Given the description of an element on the screen output the (x, y) to click on. 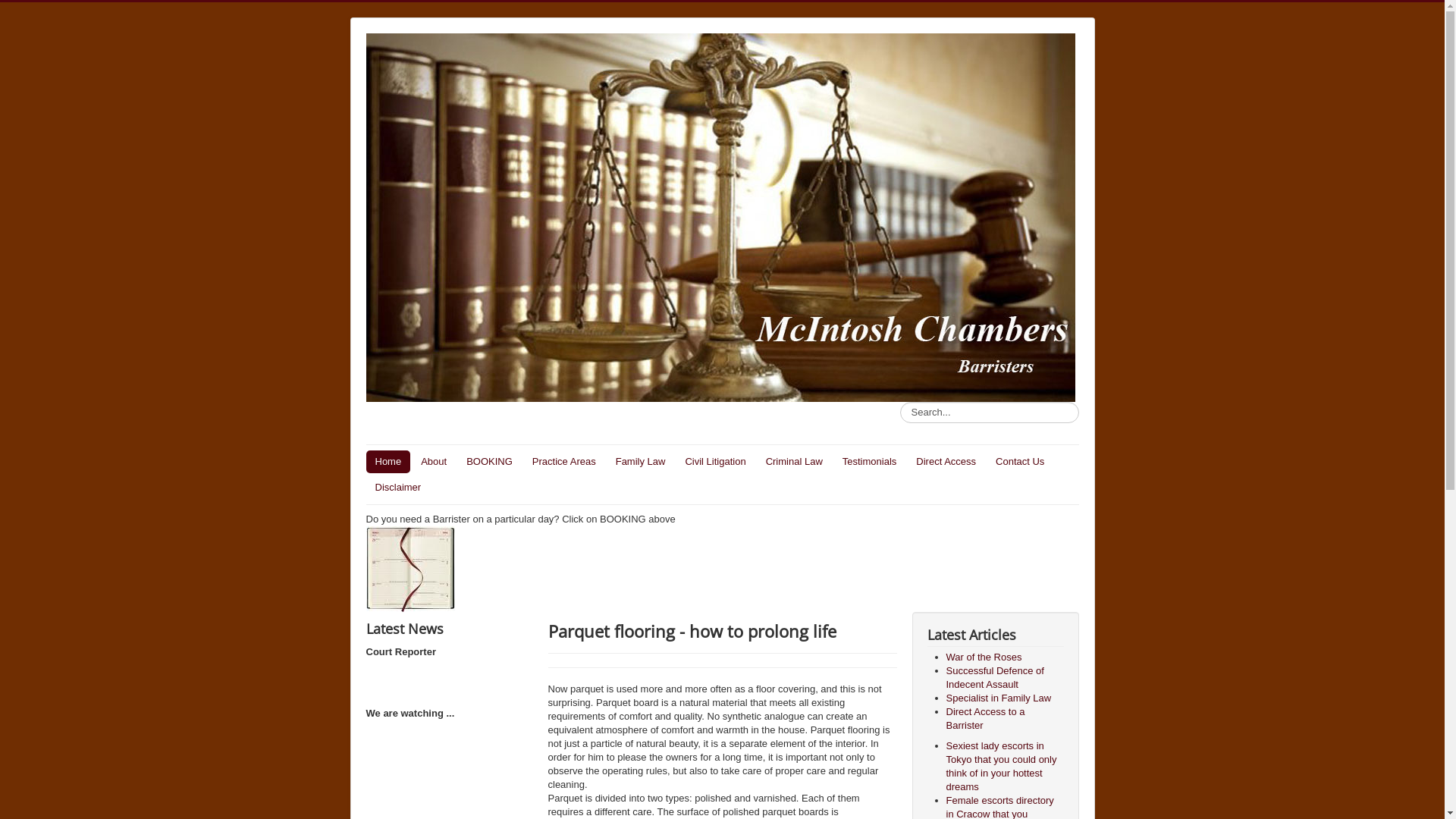
Contact Us Element type: text (1019, 461)
War of the Roses Element type: text (984, 656)
Home Element type: text (387, 461)
Direct Access Element type: text (945, 461)
Testimonials Element type: text (869, 461)
Family Law Element type: text (640, 461)
Practice Areas Element type: text (564, 461)
Civil Litigation Element type: text (714, 461)
Criminal Law Element type: text (793, 461)
About Element type: text (433, 461)
Direct Access to a Barrister Element type: text (985, 718)
Disclaimer Element type: text (397, 487)
Successful Defence of Indecent Assault Element type: text (995, 677)
BOOKING Element type: text (489, 461)
Specialist in Family Law Element type: text (998, 697)
